Given the description of an element on the screen output the (x, y) to click on. 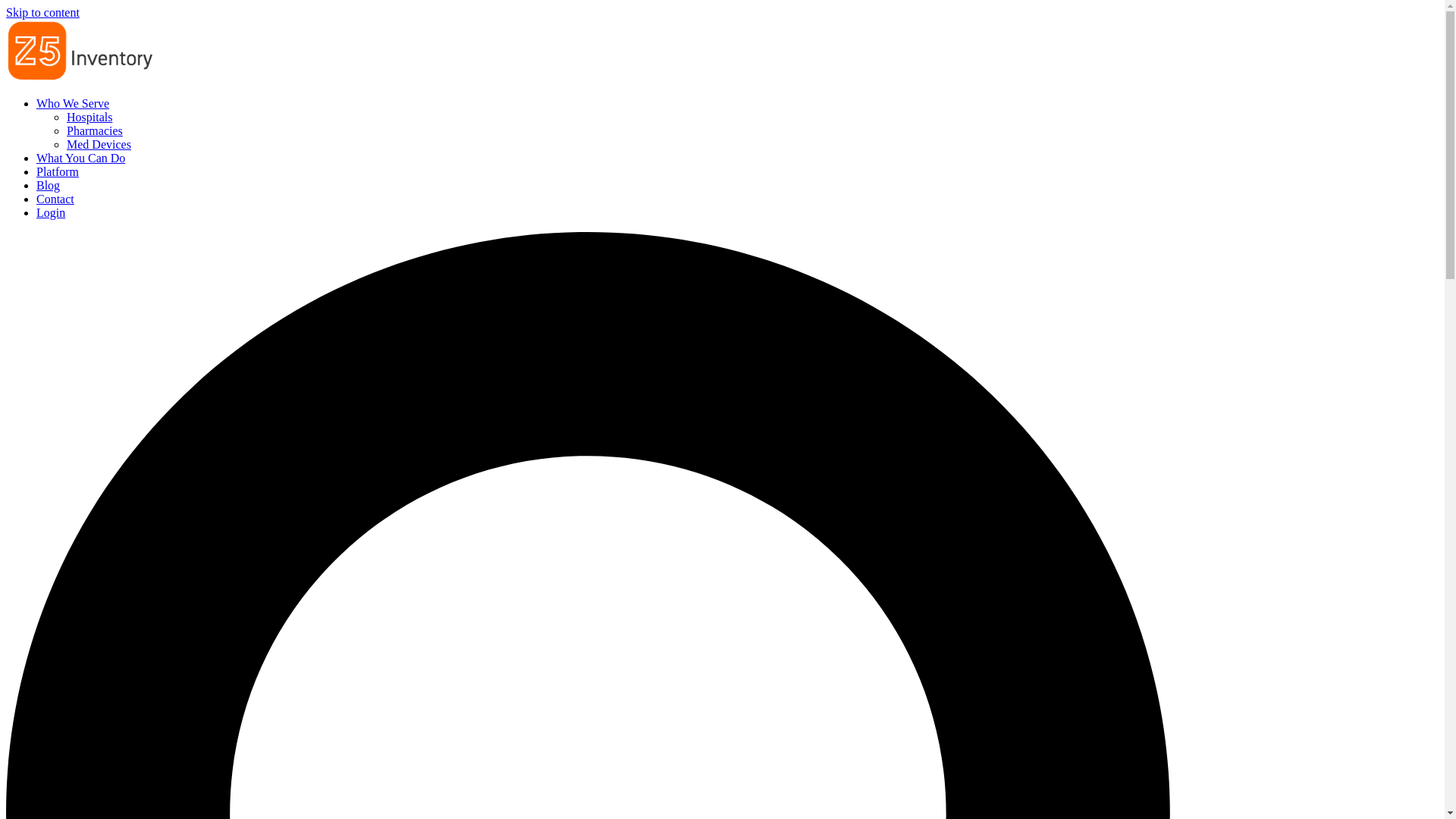
Who We Serve (72, 103)
Med Devices (98, 144)
Contact (55, 198)
Skip to content (42, 11)
What You Can Do (80, 157)
Platform (57, 171)
Blog (47, 185)
Login (50, 212)
Hospitals (89, 116)
Pharmacies (94, 130)
